Given the description of an element on the screen output the (x, y) to click on. 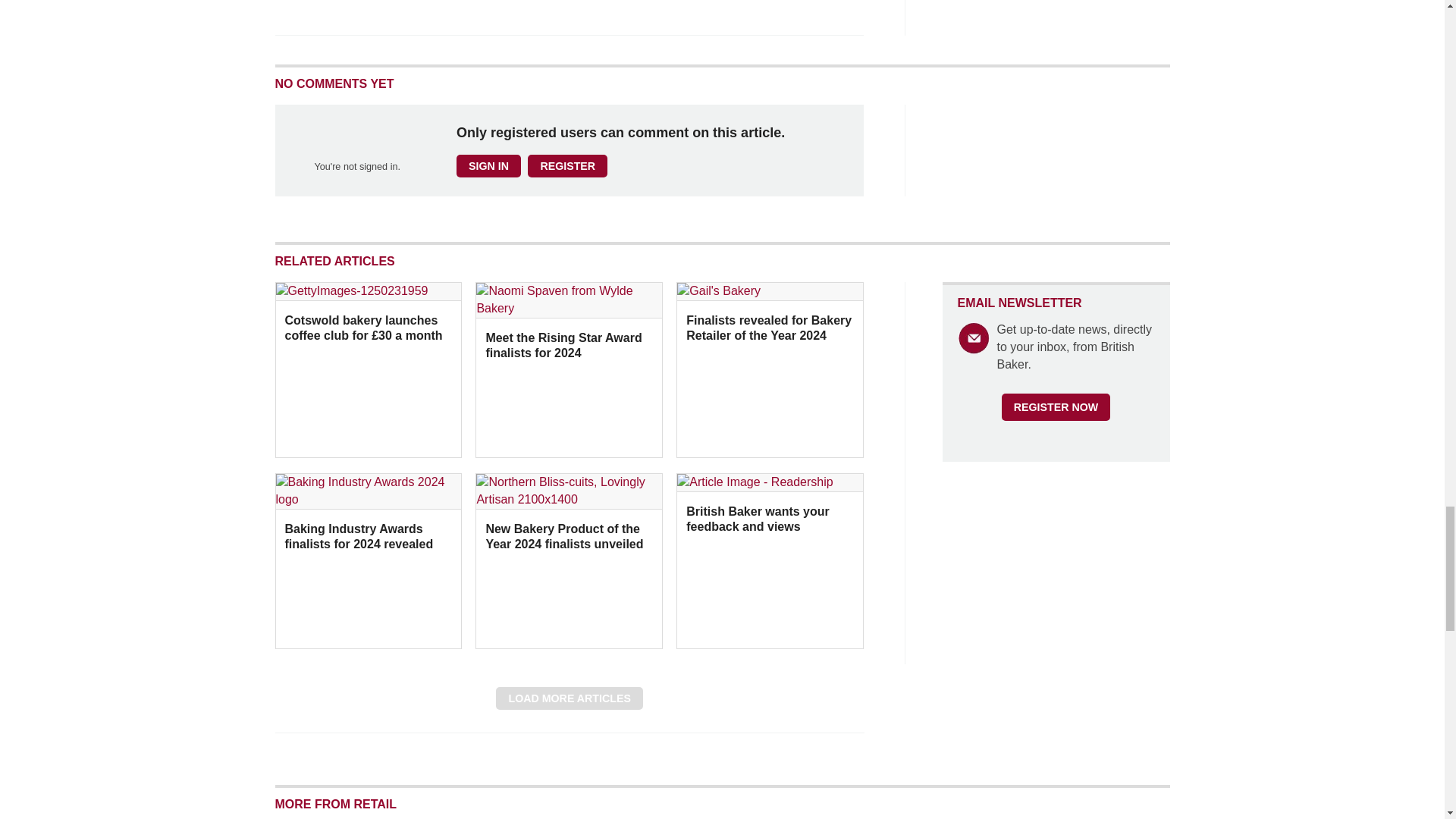
Share this on Twitter (320, 12)
Share this on Linked in (352, 12)
Email this article (386, 12)
No comments (840, 20)
Share this on Facebook (288, 12)
